Given the description of an element on the screen output the (x, y) to click on. 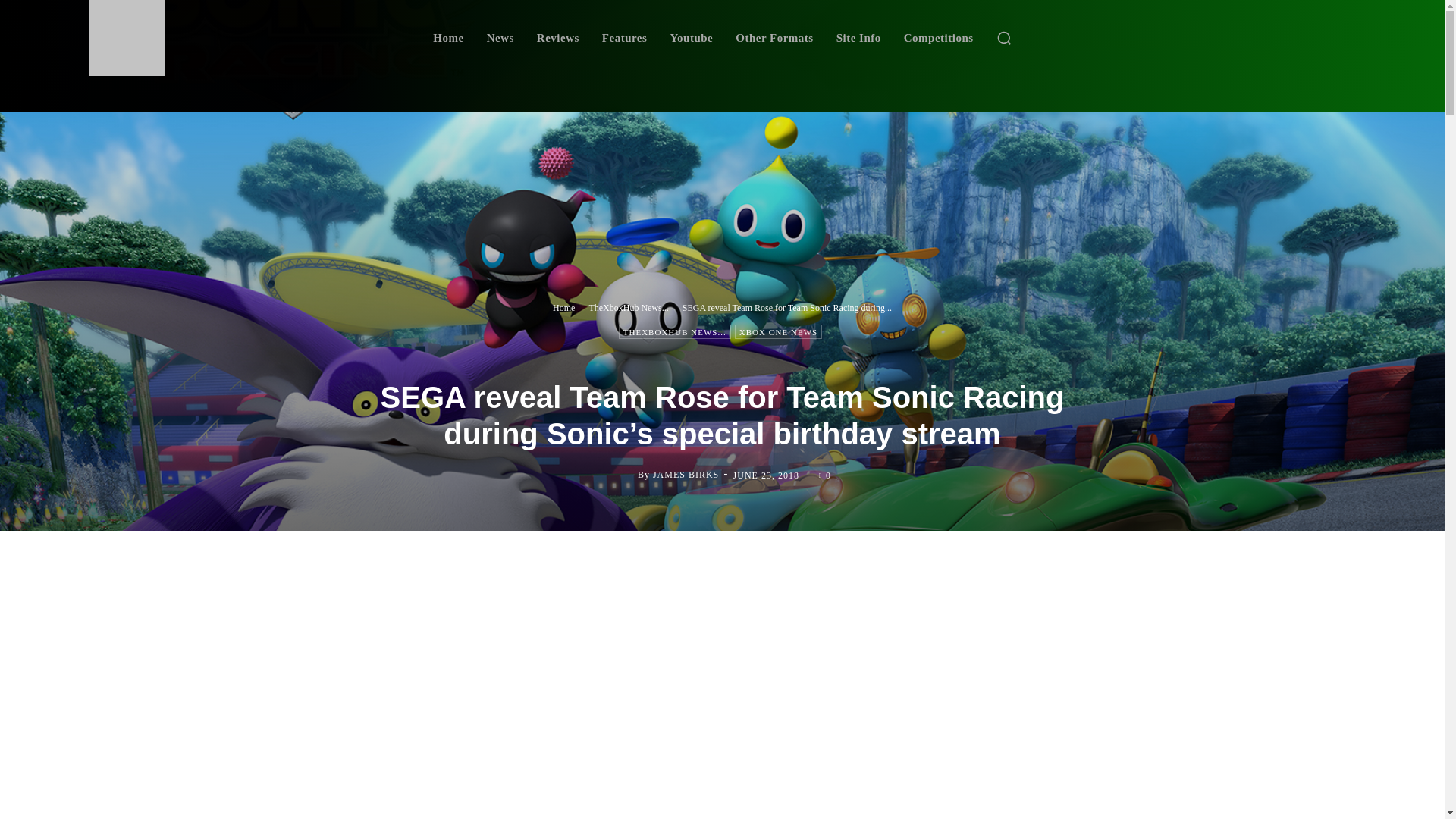
James Birks (624, 474)
News (500, 38)
View all posts in TheXboxHub News... (628, 307)
Home (447, 38)
